Given the description of an element on the screen output the (x, y) to click on. 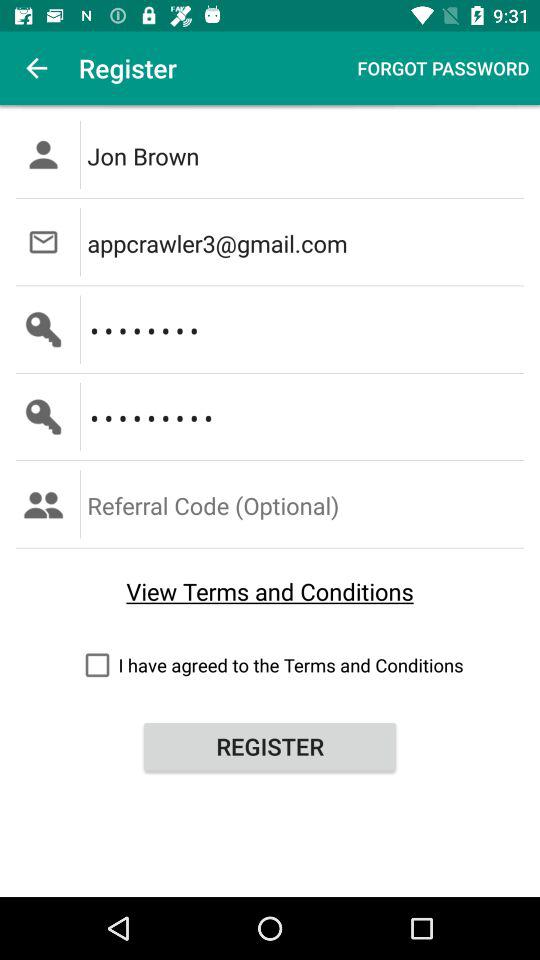
select the forgot password at the top right corner (443, 67)
